Given the description of an element on the screen output the (x, y) to click on. 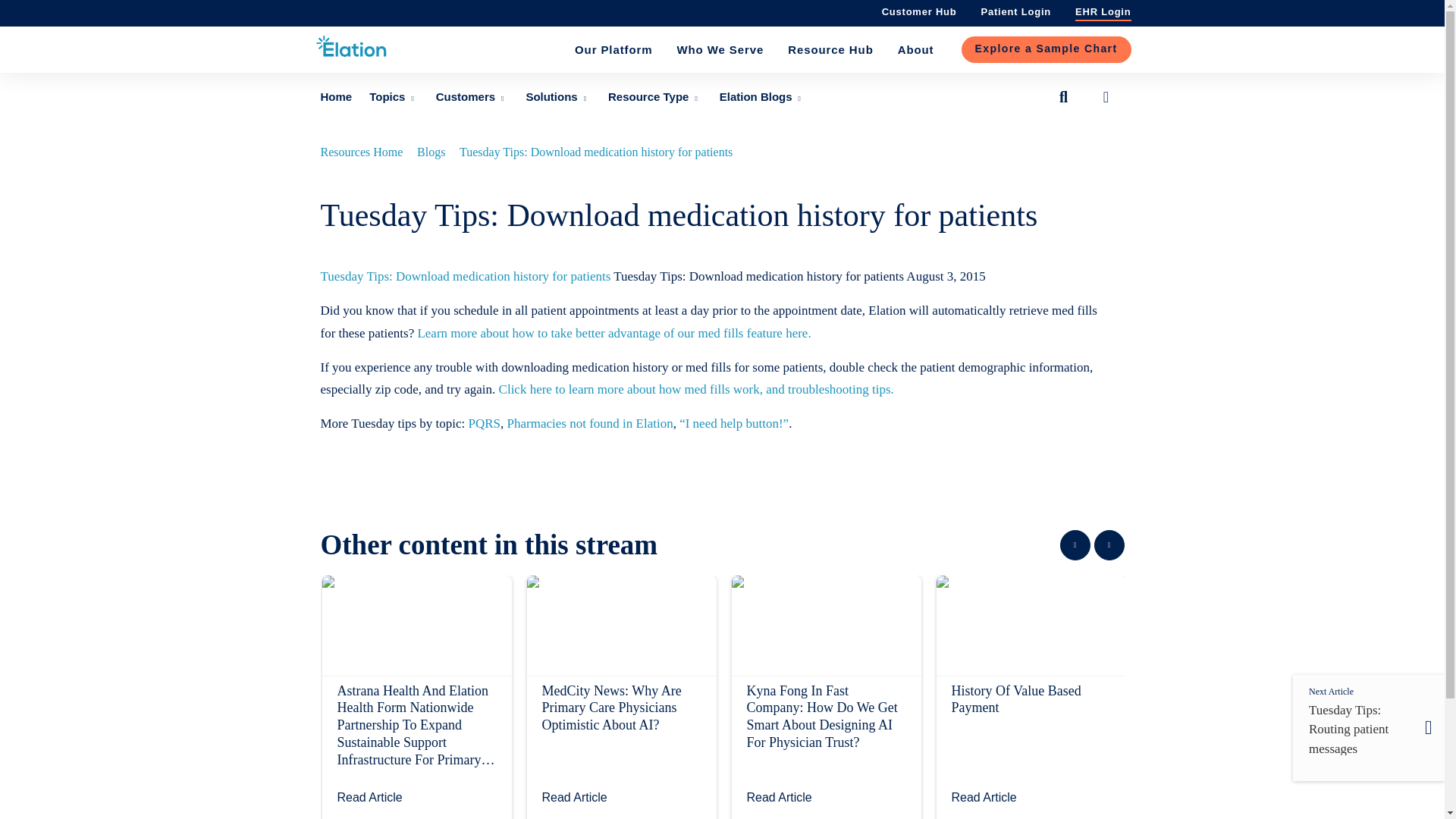
Resource Hub (830, 50)
Customer Hub (919, 10)
Patient Login (1016, 10)
About (916, 50)
Open Search Box (1063, 96)
EHR Login (1103, 10)
Our Platform (613, 50)
Who We Serve (719, 50)
Share this Post (1105, 96)
